Given the description of an element on the screen output the (x, y) to click on. 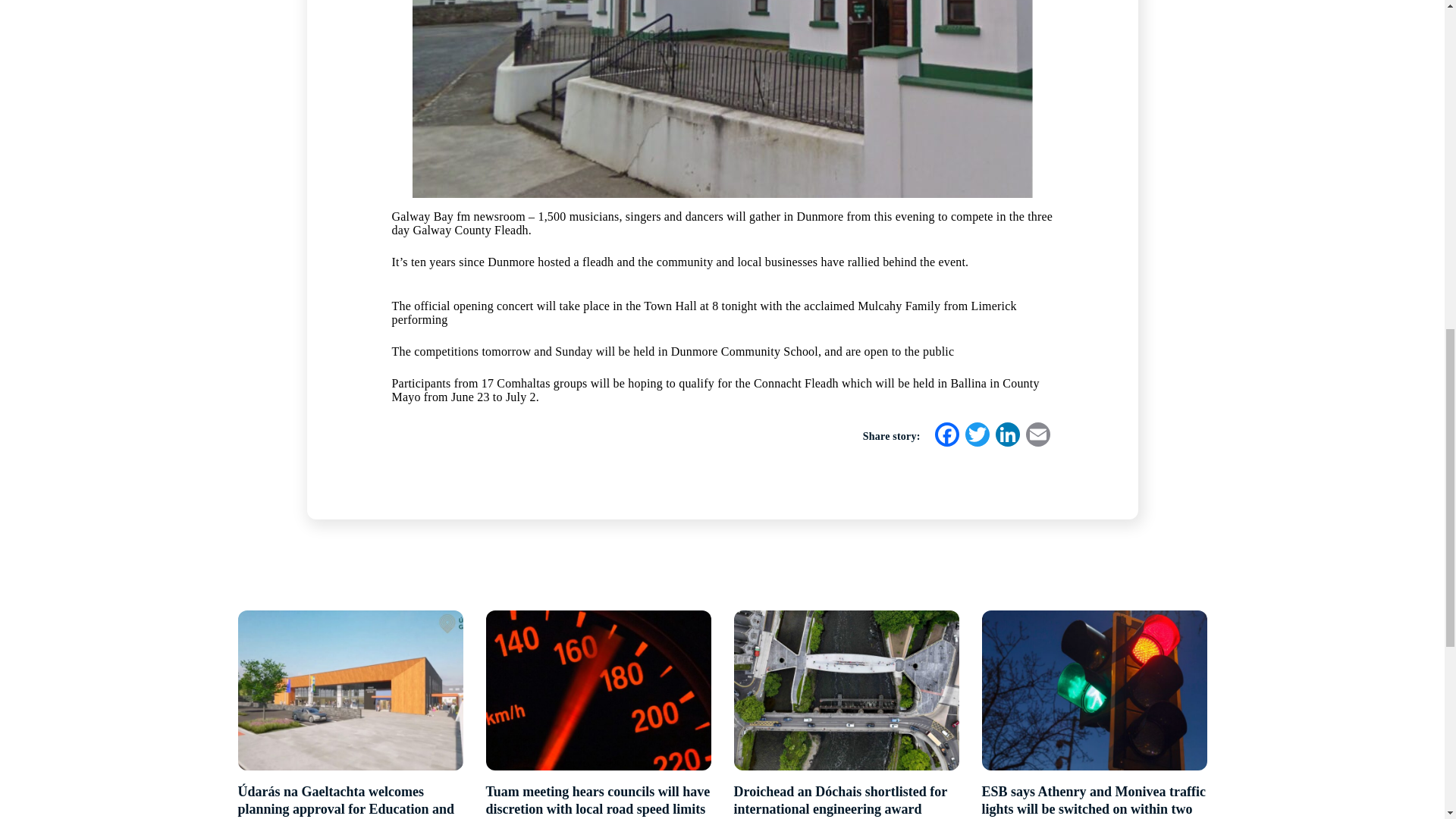
LinkedIn (1006, 436)
Twitter (975, 436)
LinkedIn (1006, 436)
Email (1037, 436)
Facebook (945, 436)
Twitter (975, 436)
Email (1037, 436)
Facebook (945, 436)
